Given the description of an element on the screen output the (x, y) to click on. 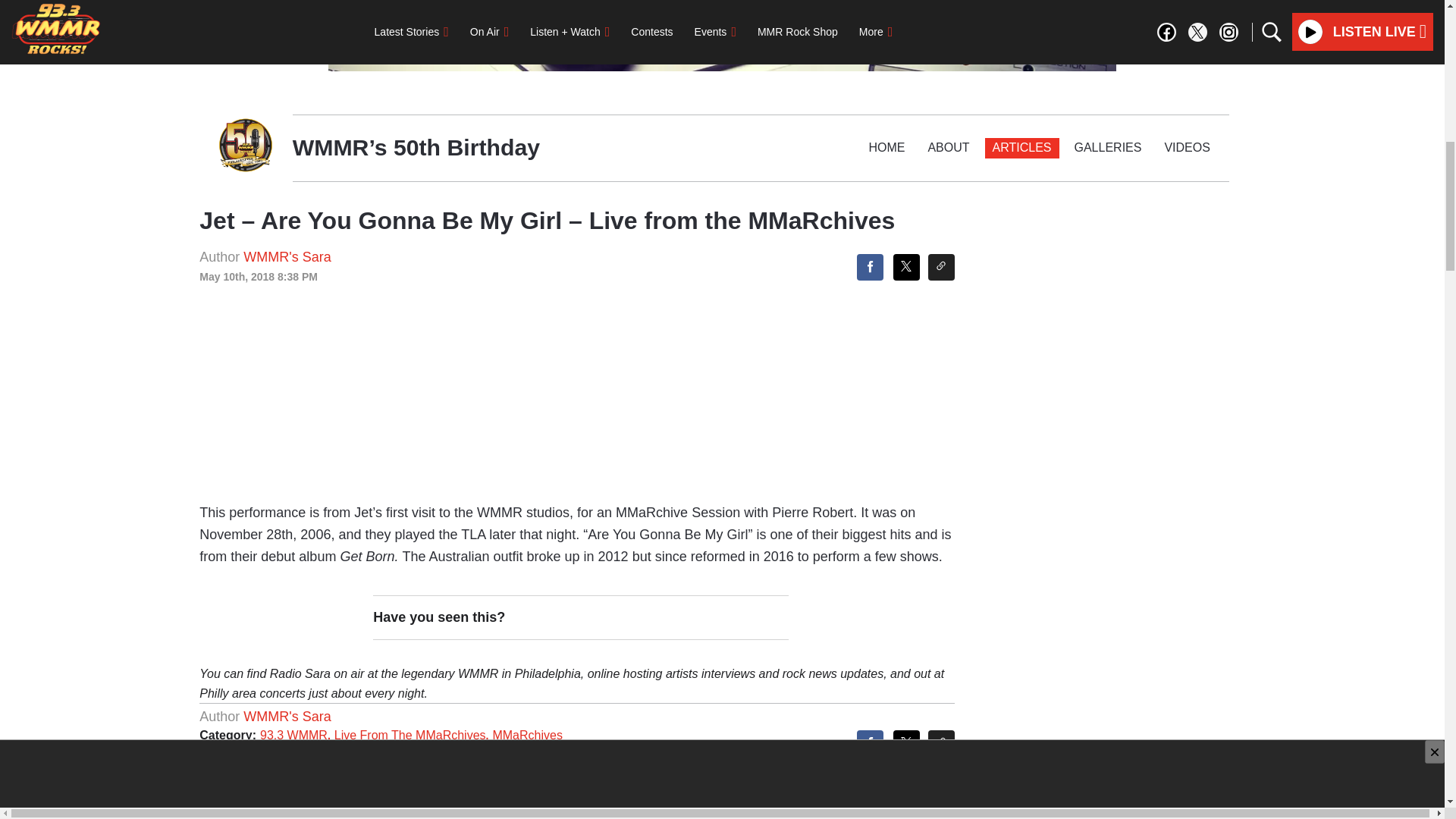
Jet - Are You Gonna Be My Girl - Live from the MMaRchives (576, 369)
WMMR's Sara (286, 716)
WMMR's Sara (286, 256)
